Given the description of an element on the screen output the (x, y) to click on. 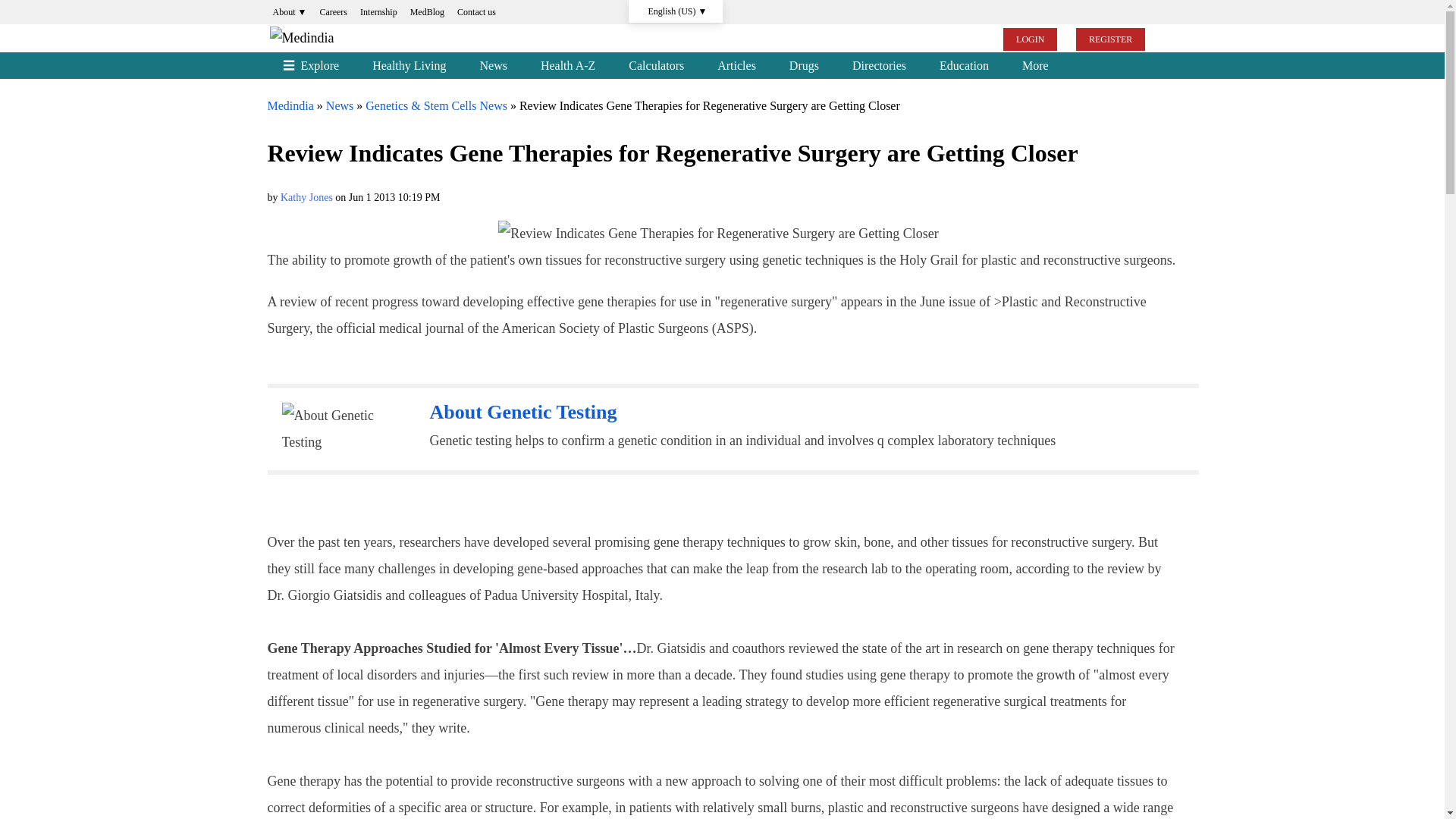
Education (964, 65)
Careers (333, 11)
More (1035, 65)
Healthy Living (408, 65)
REGISTER (1109, 38)
Drugs (804, 65)
Kathy Jones (307, 197)
About Genetic Testing (522, 412)
Articles (736, 65)
